Given the description of an element on the screen output the (x, y) to click on. 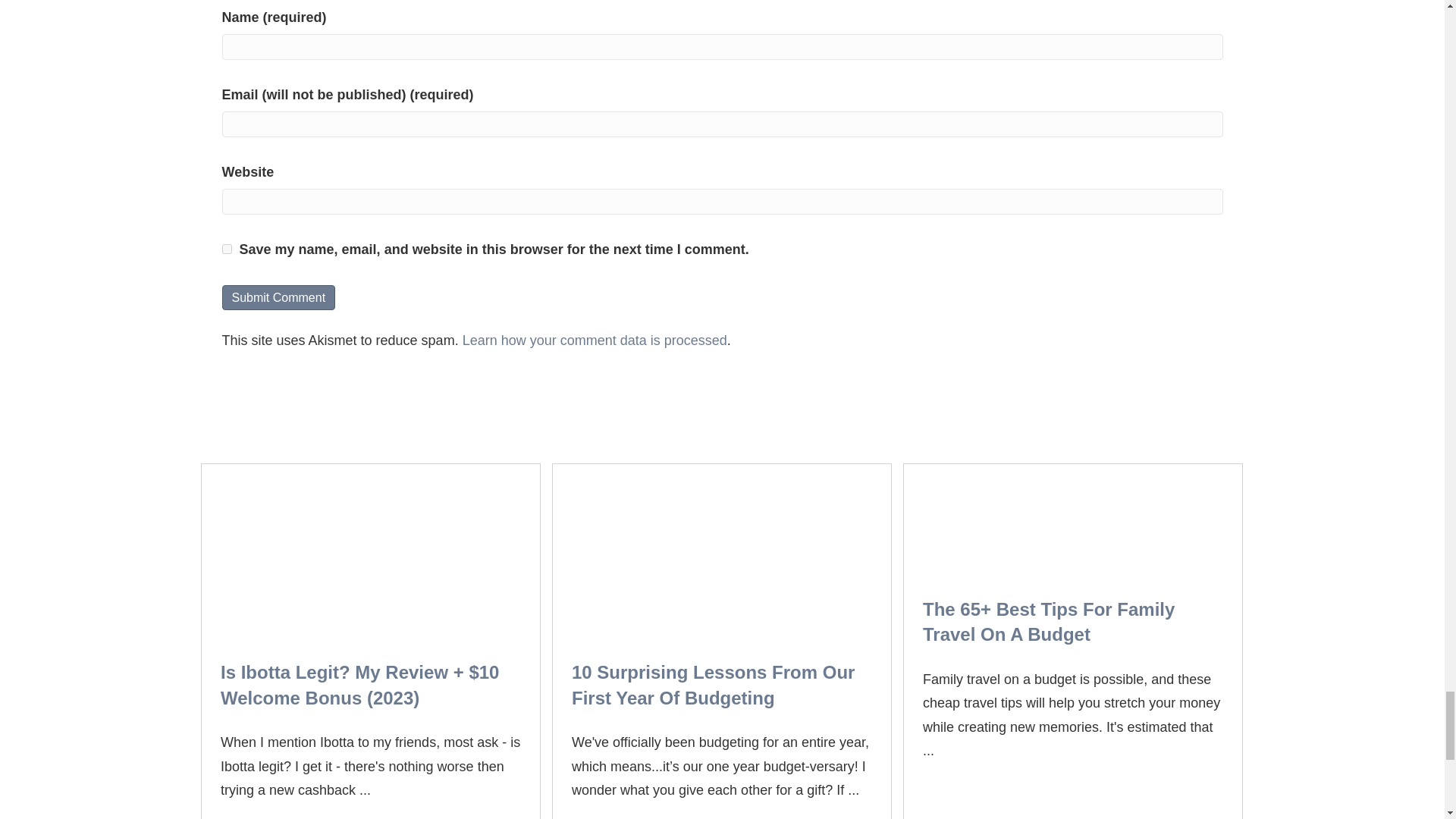
10 Surprising Lessons from our First Year of Budgeting (713, 684)
yes (226, 248)
10 Surprising Lessons from our First Year of Budgeting (722, 550)
Submit Comment (277, 297)
